Given the description of an element on the screen output the (x, y) to click on. 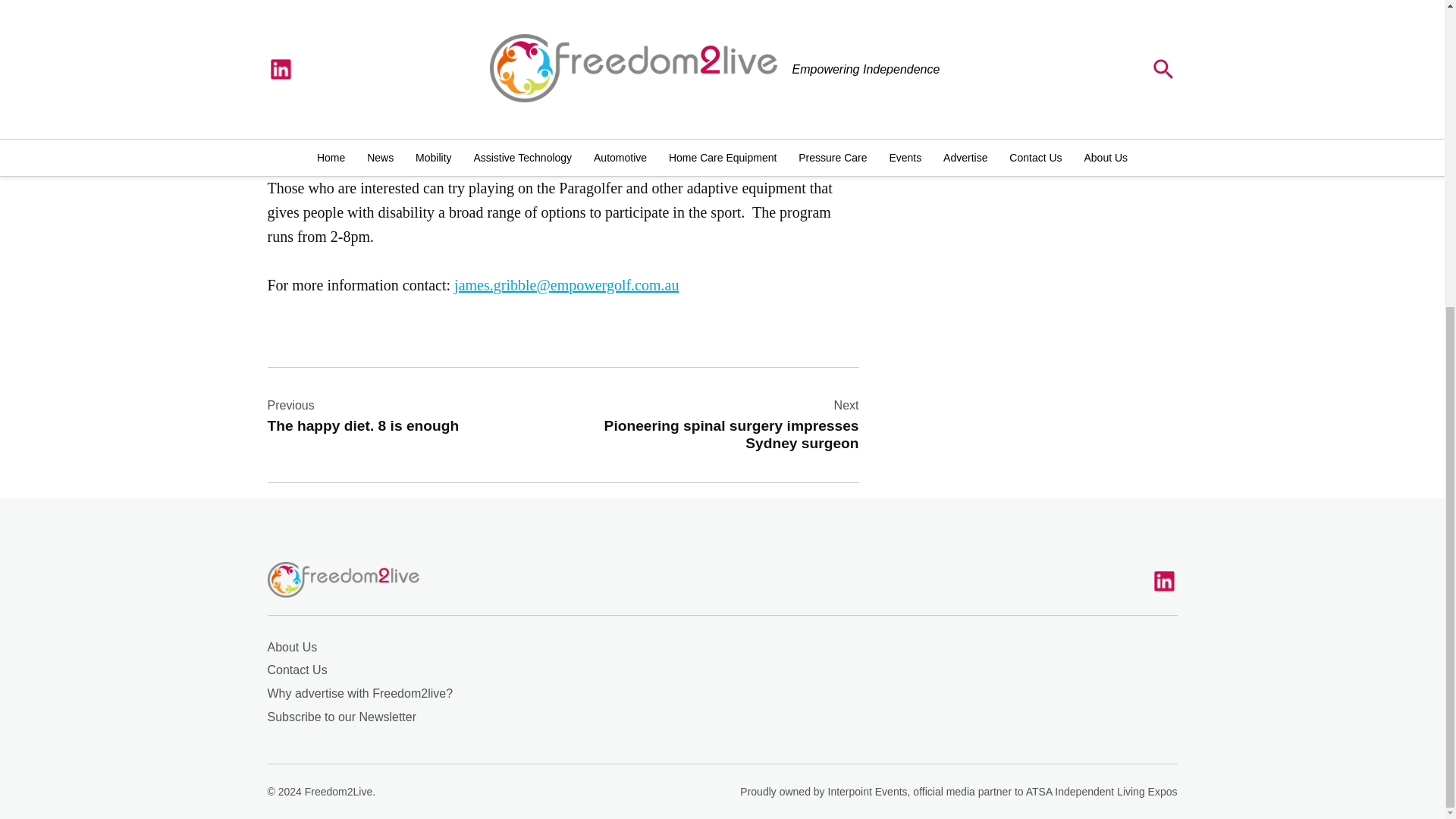
linkedin (399, 415)
